Given the description of an element on the screen output the (x, y) to click on. 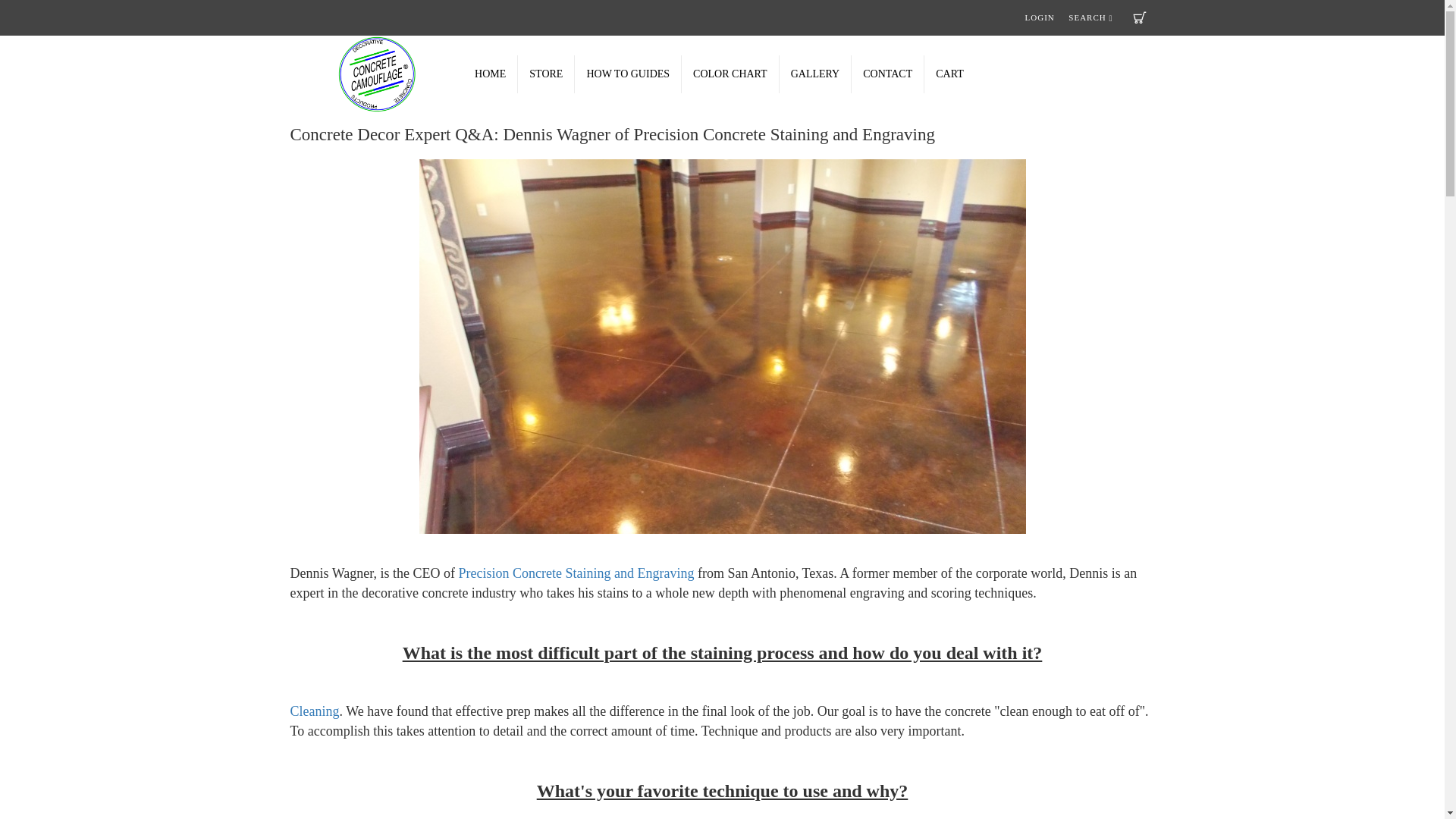
Cart (1139, 17)
LOGIN (1039, 17)
COLOR CHART (729, 74)
CONTACT (887, 74)
HOW TO GUIDES (628, 74)
HOME (490, 74)
STORE (546, 74)
SEARCH (1090, 17)
CART (949, 74)
GALLERY (814, 74)
